Given the description of an element on the screen output the (x, y) to click on. 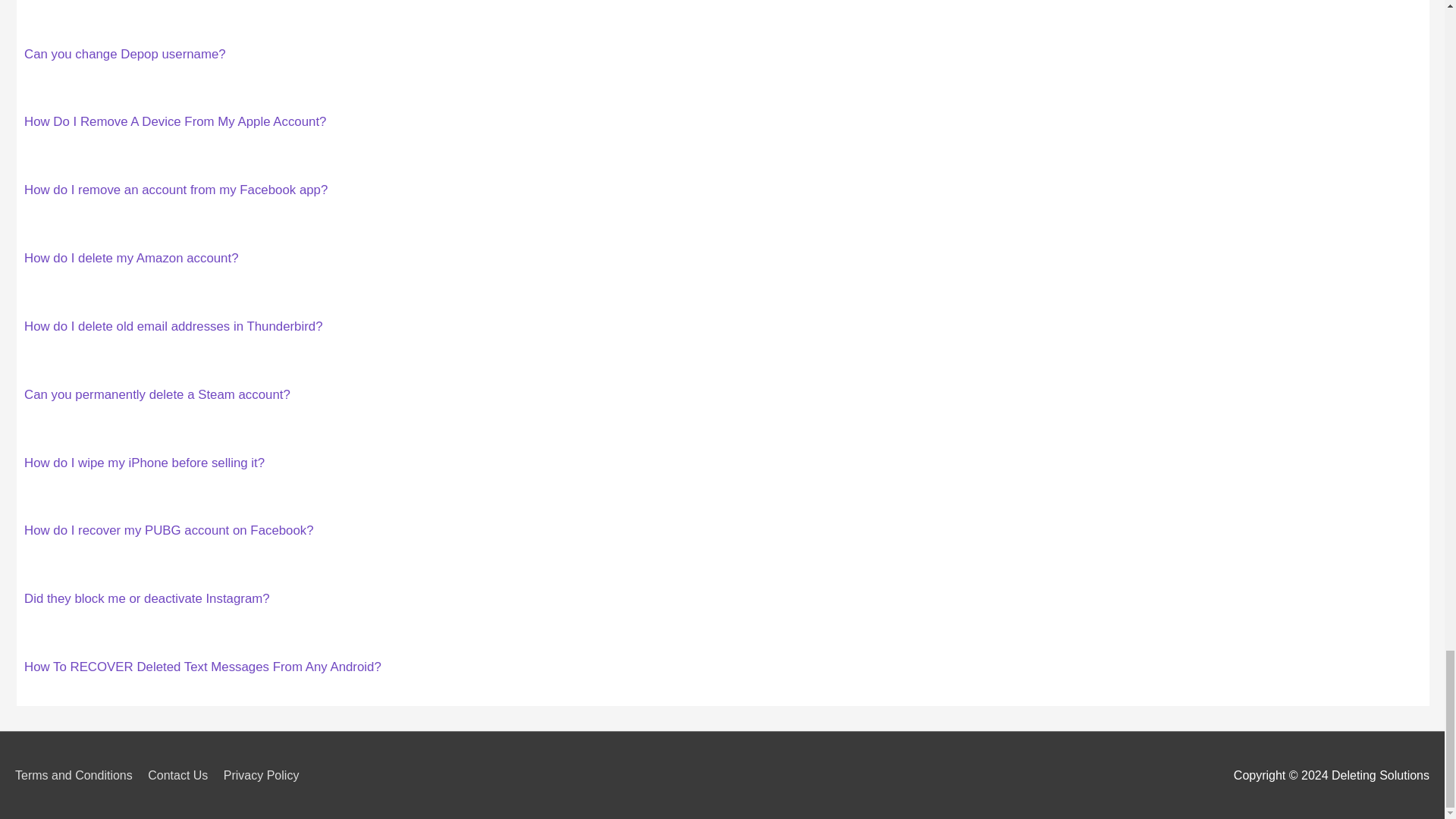
Contact Us (183, 775)
How Do I Remove A Device From My Apple Account? (175, 121)
How To RECOVER Deleted Text Messages From Any Android? (202, 667)
How do I recover my PUBG account on Facebook? (169, 530)
Can you permanently delete a Steam account? (156, 394)
Terms and Conditions (79, 775)
How do I wipe my iPhone before selling it? (144, 462)
Privacy Policy (267, 775)
How do I delete my Amazon account? (131, 257)
How do I remove an account from my Facebook app? (175, 189)
